Given the description of an element on the screen output the (x, y) to click on. 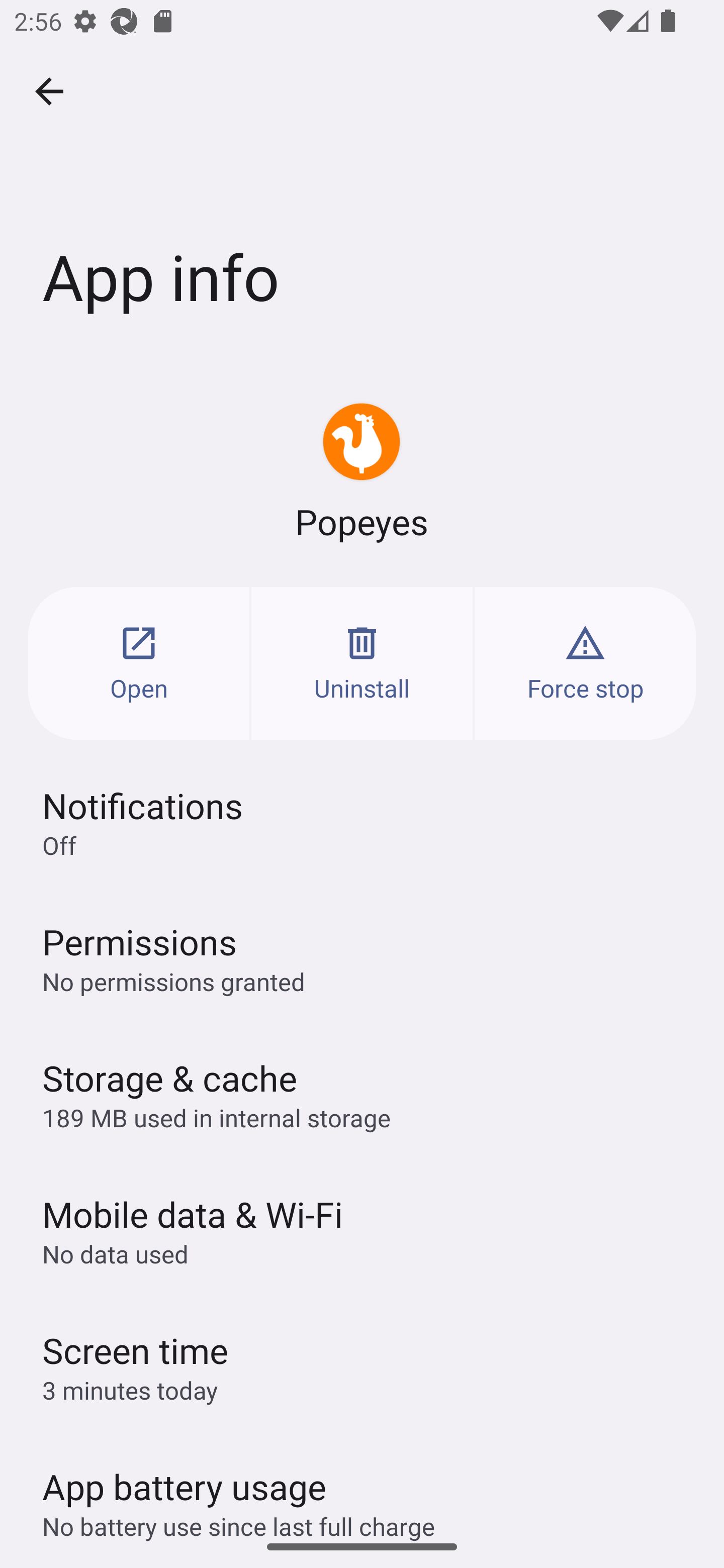
Navigate up (49, 91)
Open (138, 663)
Uninstall (361, 663)
Force stop (584, 663)
Notifications Off (362, 822)
Permissions No permissions granted (362, 957)
Storage & cache 189 MB used in internal storage (362, 1093)
Mobile data & Wi‑Fi No data used (362, 1229)
Screen time 3 minutes today (362, 1366)
